Given the description of an element on the screen output the (x, y) to click on. 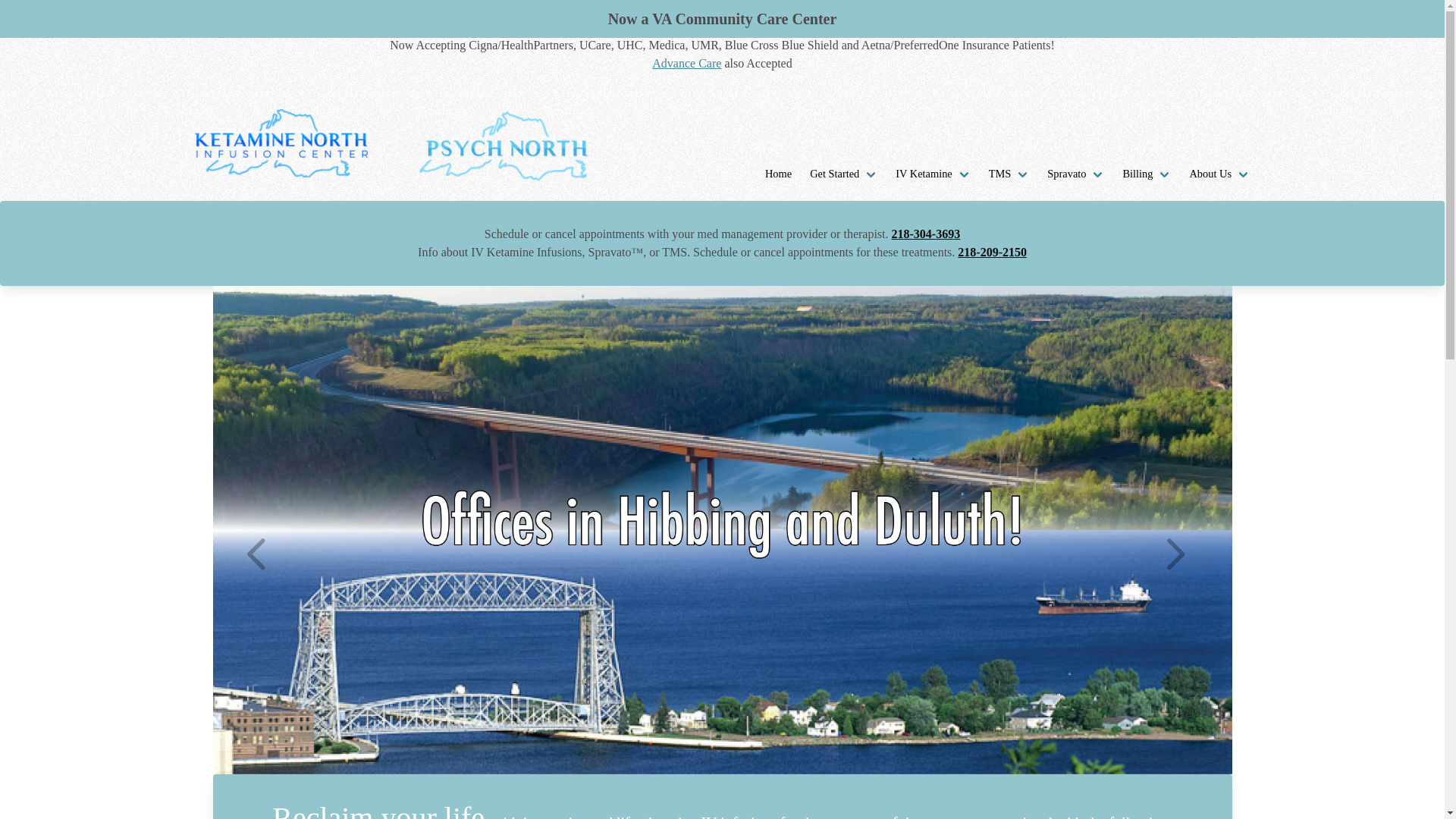
Advance Care (686, 62)
218-304-3693 (925, 233)
Schedule an appt today (992, 251)
Home (778, 174)
218-209-2150 (992, 251)
Schedule an appt today (925, 233)
